Given the description of an element on the screen output the (x, y) to click on. 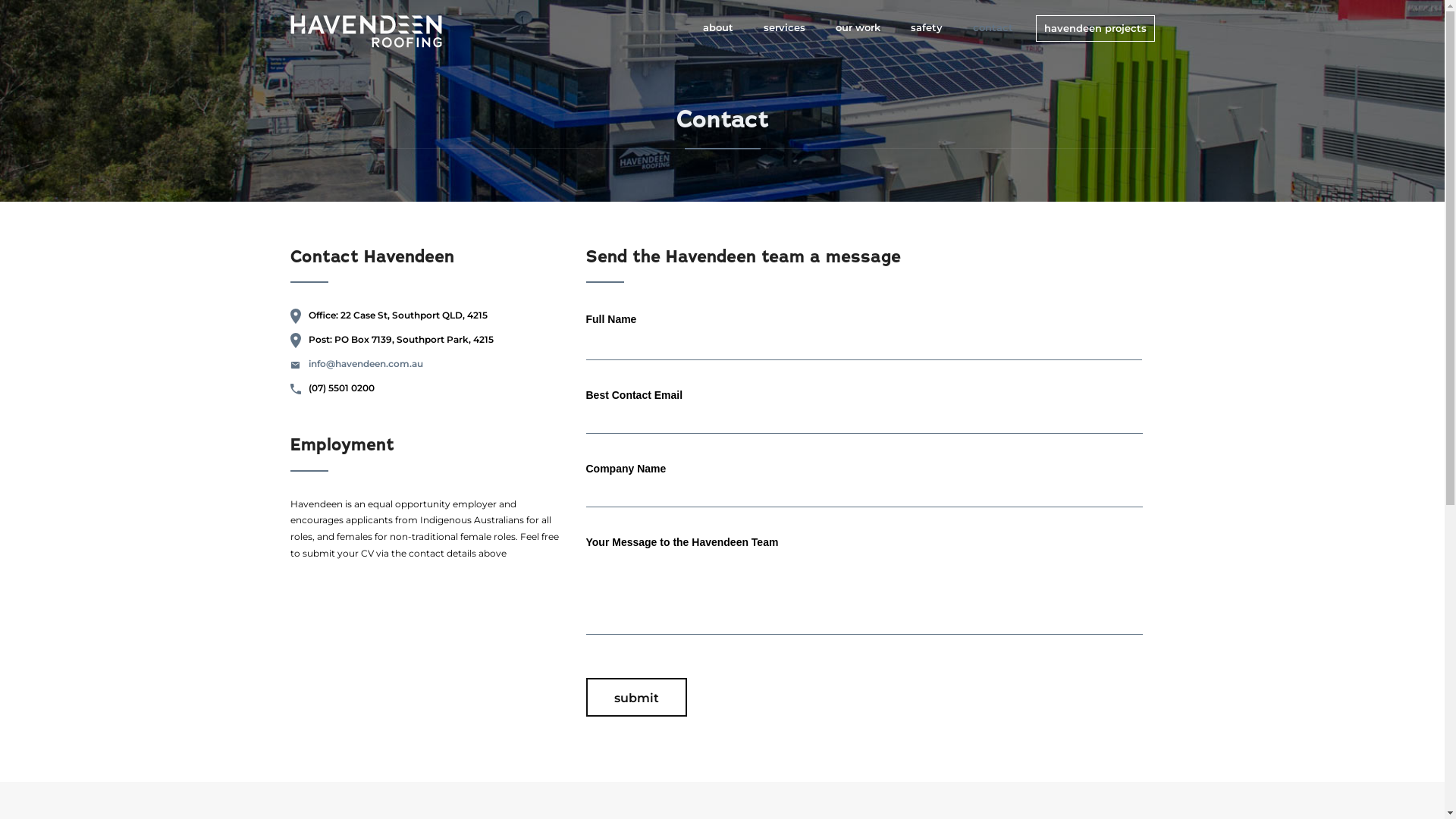
about Element type: text (724, 27)
contact Element type: text (999, 27)
services Element type: text (791, 27)
our work Element type: text (865, 27)
info@havendeen.com.au Element type: text (364, 363)
submit Element type: text (635, 696)
havendeen projects Element type: text (1094, 28)
safety Element type: text (933, 27)
